Given the description of an element on the screen output the (x, y) to click on. 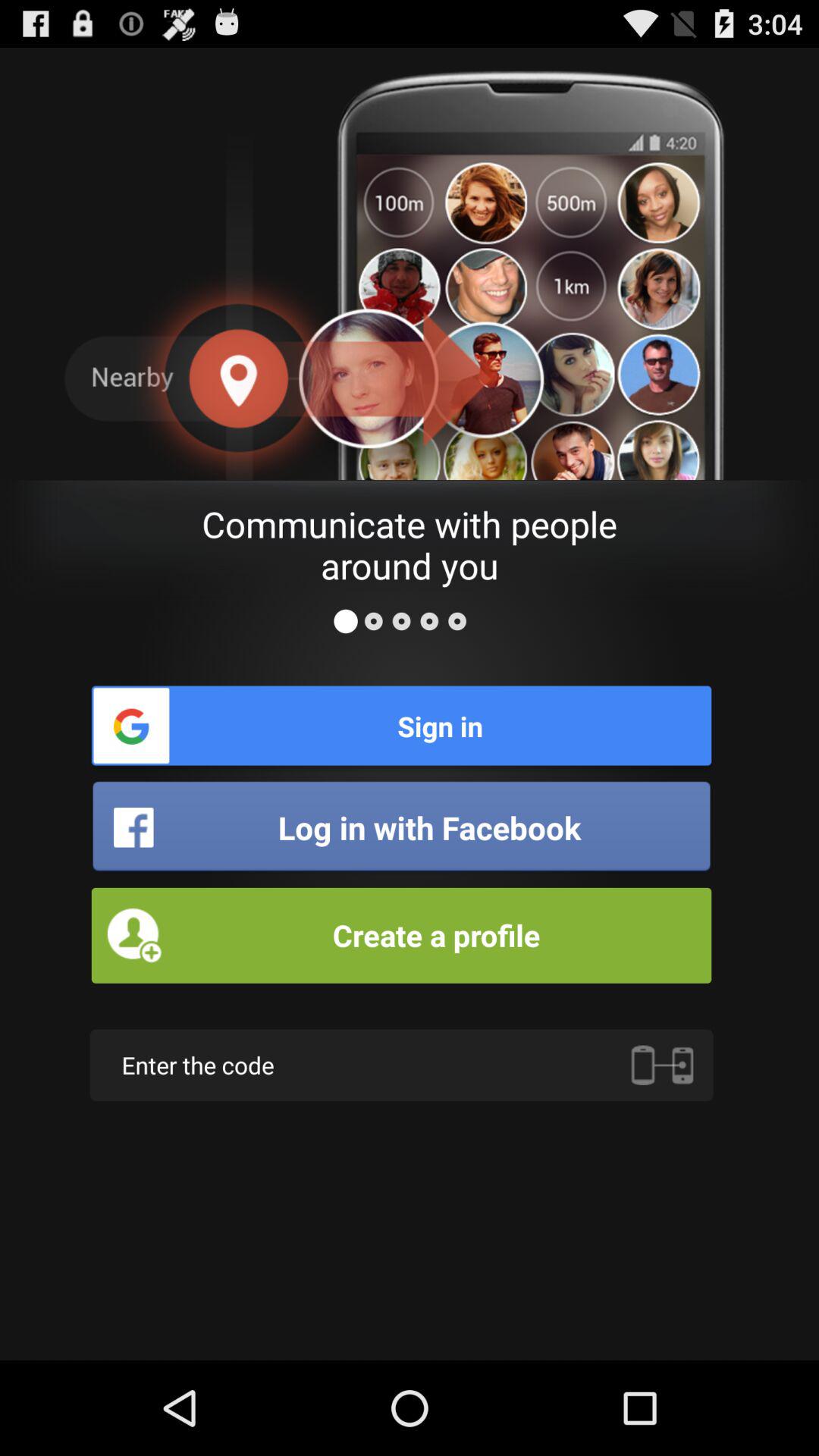
turn off the button below create a profile icon (662, 1065)
